Given the description of an element on the screen output the (x, y) to click on. 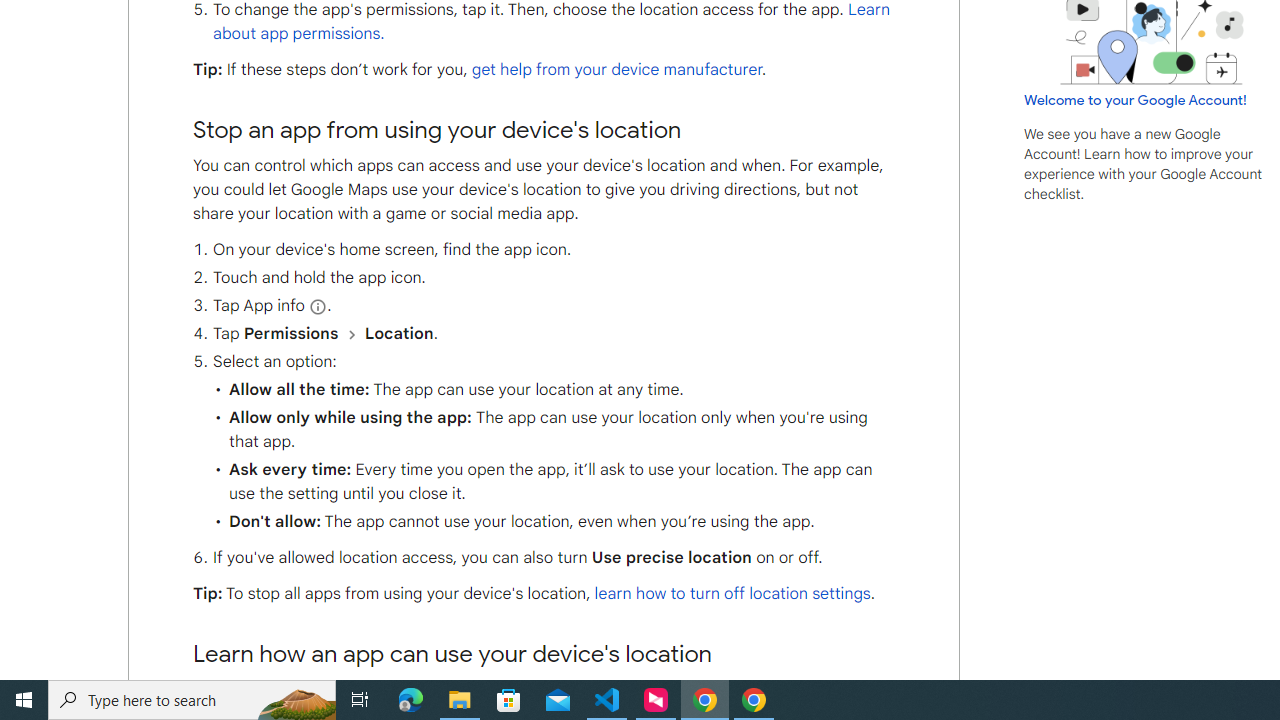
Learn about app permissions. (551, 21)
and then (350, 334)
Welcome to your Google Account! (1135, 99)
learn how to turn off location settings (731, 593)
get help from your device manufacturer (616, 69)
